Given the description of an element on the screen output the (x, y) to click on. 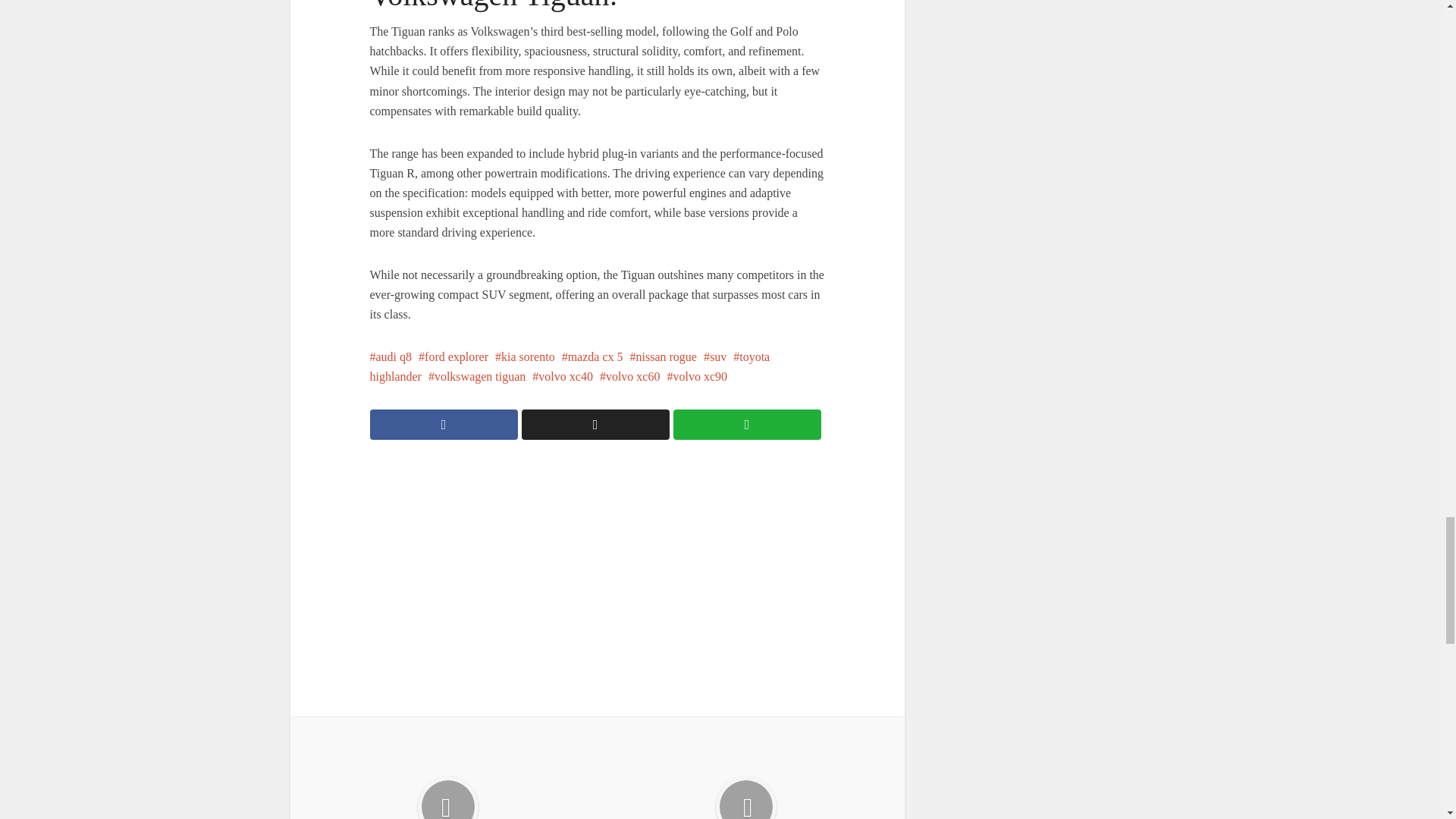
toyota highlander (569, 366)
suv (714, 356)
Top Canadian Dog Food Companies (746, 775)
volvo xc40 (562, 376)
audi q8 (390, 356)
ford explorer (453, 356)
nissan rogue (663, 356)
volvo xc60 (630, 376)
mazda cx 5 (592, 356)
7 High Glycemic Index Fruits to Avoid (447, 775)
volvo xc90 (696, 376)
volkswagen tiguan (476, 376)
kia sorento (524, 356)
